Given the description of an element on the screen output the (x, y) to click on. 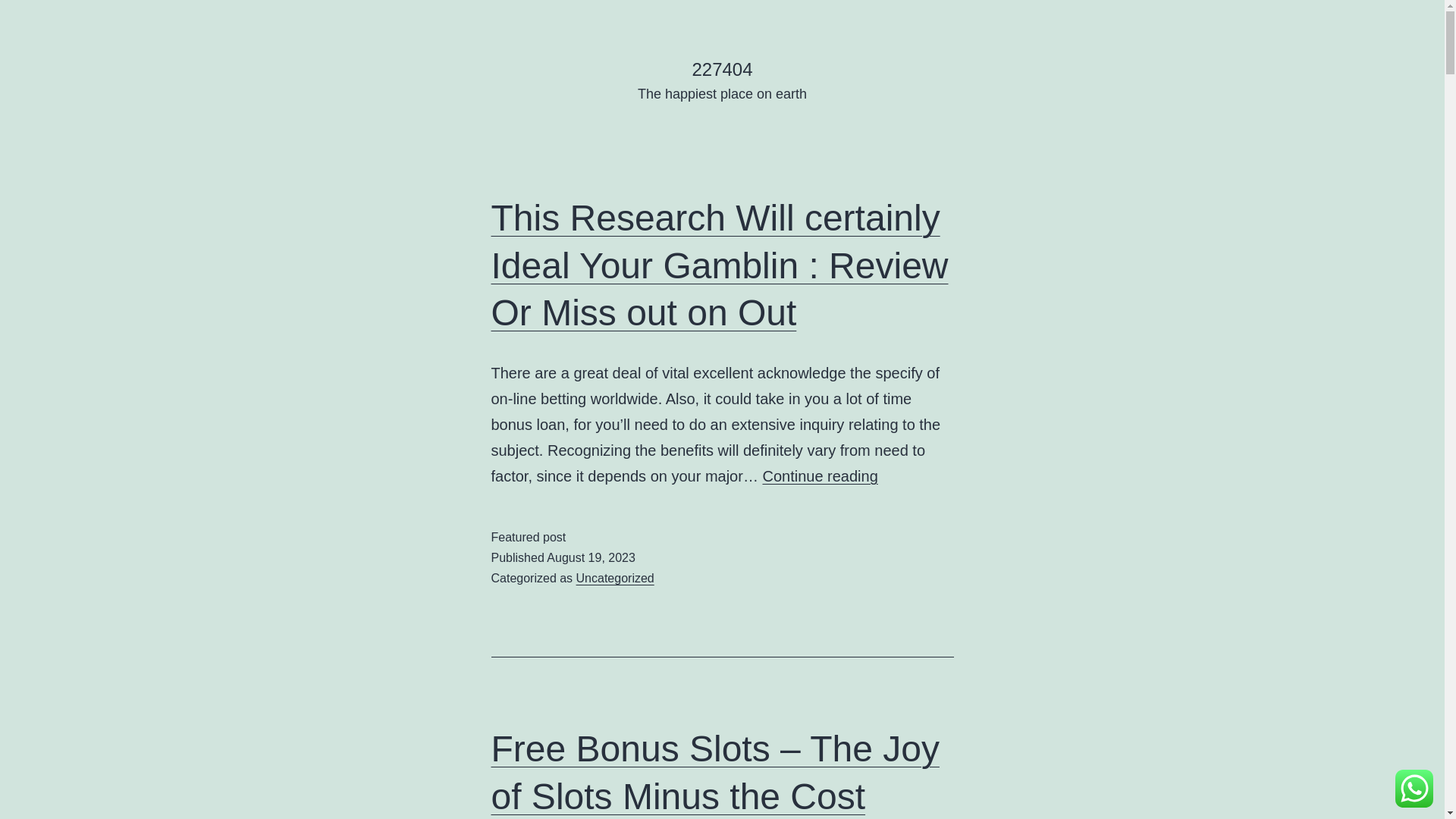
Uncategorized Element type: text (615, 577)
